Given the description of an element on the screen output the (x, y) to click on. 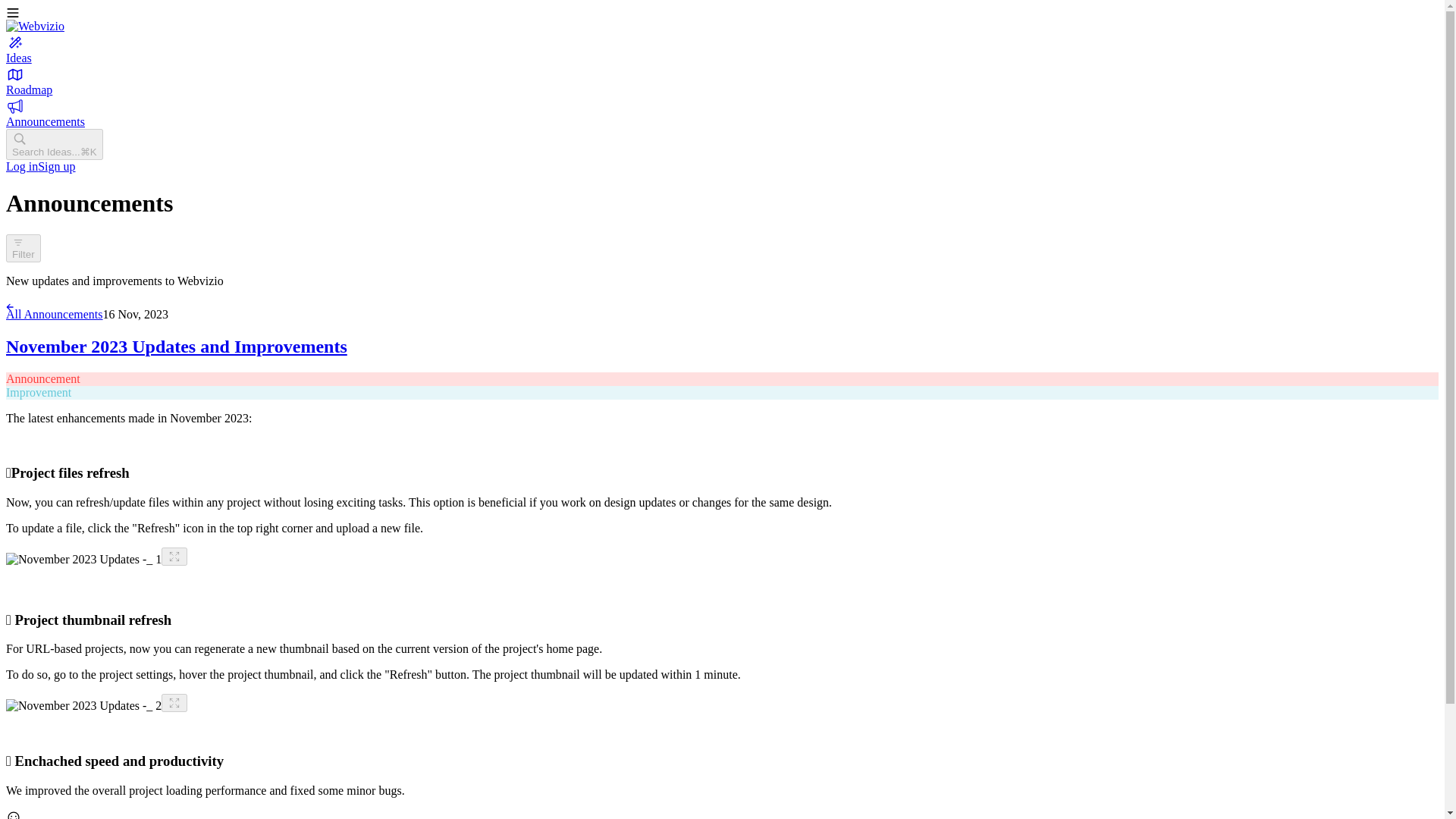
Log in (21, 165)
Sign up (56, 165)
16 Nov, 2023 at 7:42 AM (135, 314)
Filter (22, 248)
